Given the description of an element on the screen output the (x, y) to click on. 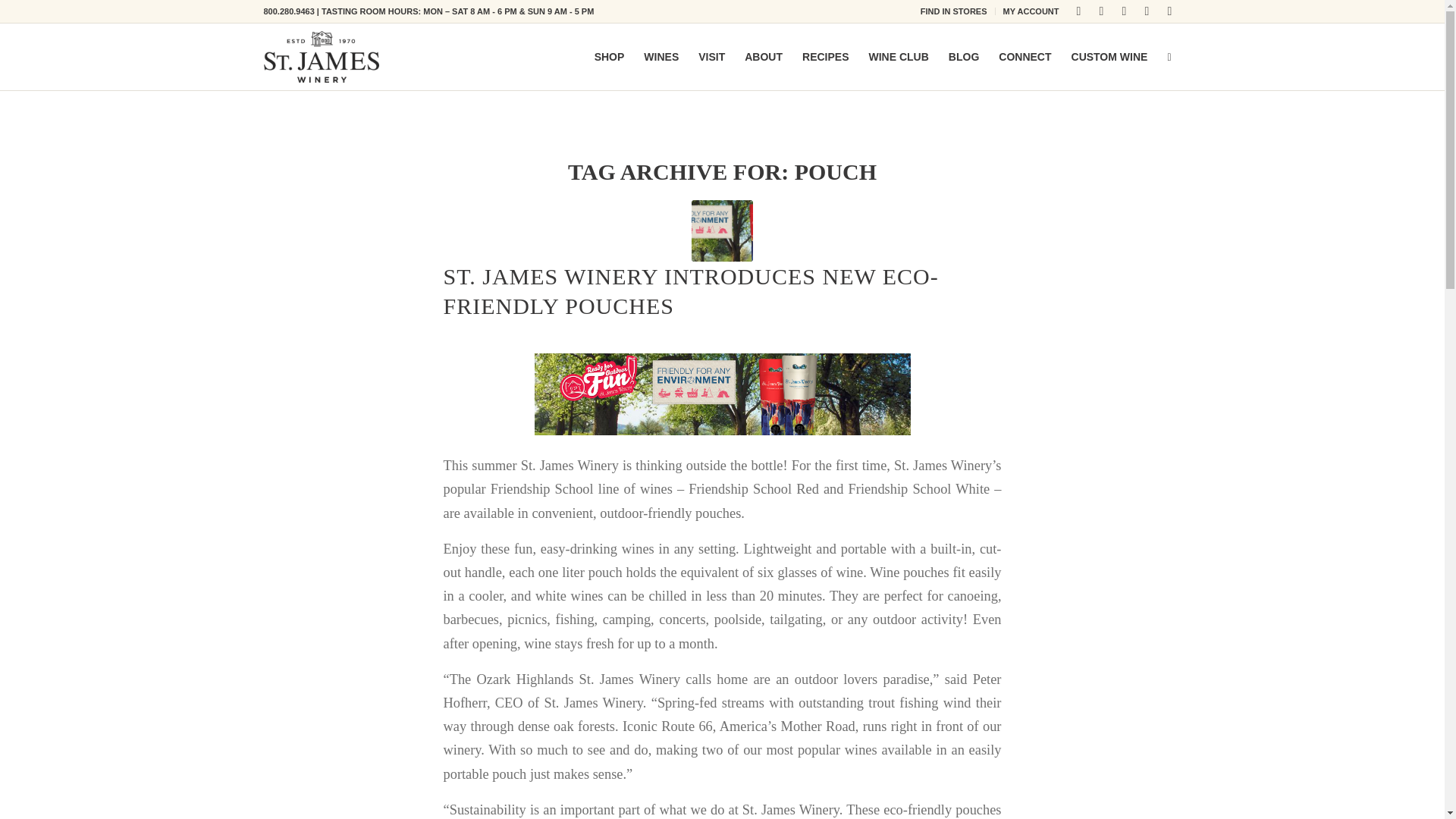
X (1124, 11)
Instagram (1101, 11)
FIND IN STORES (953, 11)
MY ACCOUNT (1031, 11)
800.280.9463 (288, 10)
St. James Winery Logo (321, 56)
Facebook (1078, 11)
Youtube (1146, 11)
RECIPES (825, 56)
Pinterest (1169, 11)
WINE CLUB (898, 56)
CONNECT (1024, 56)
